Given the description of an element on the screen output the (x, y) to click on. 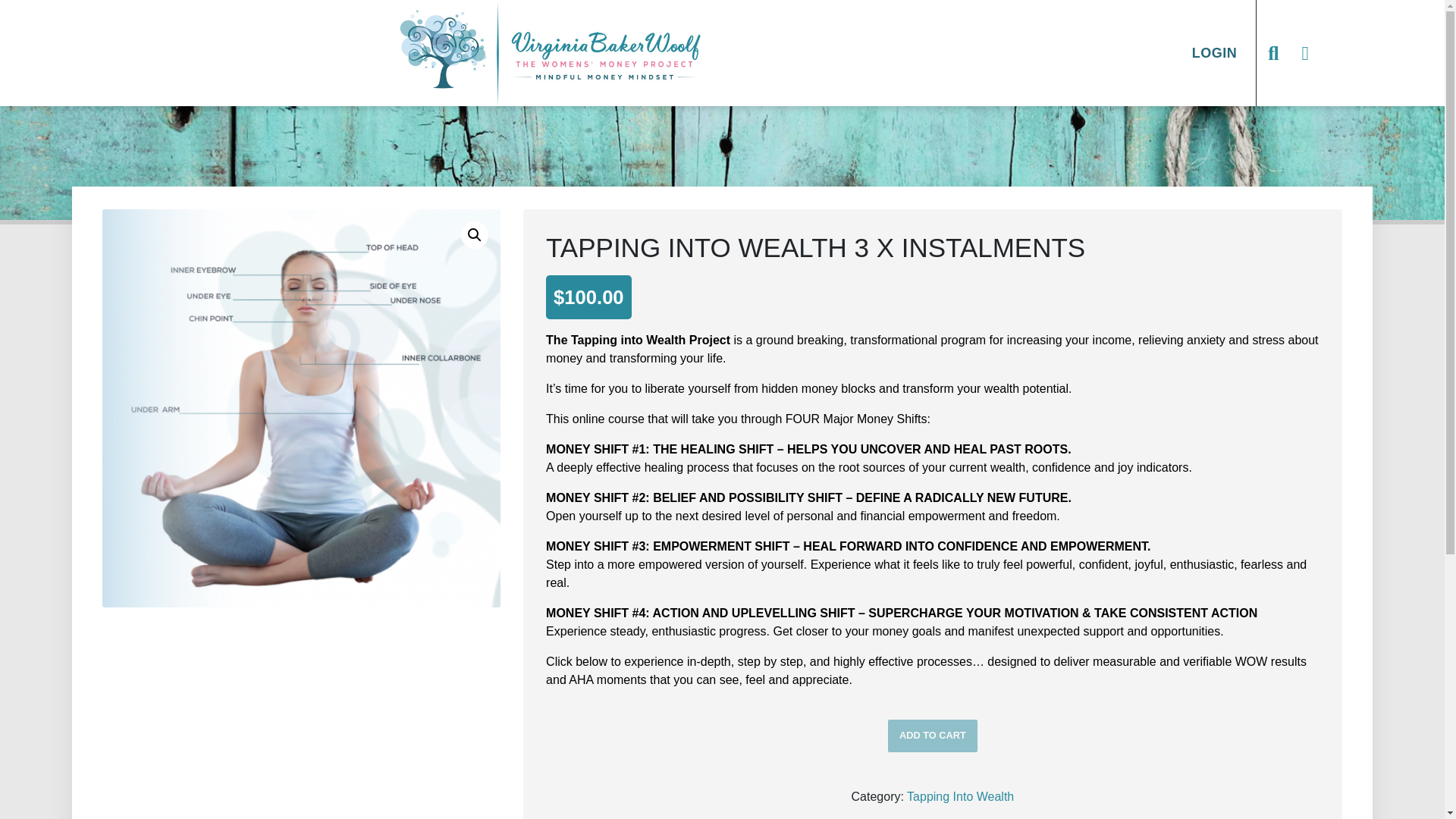
Tapping Into Wealth (960, 796)
ADD TO CART (932, 735)
